Given the description of an element on the screen output the (x, y) to click on. 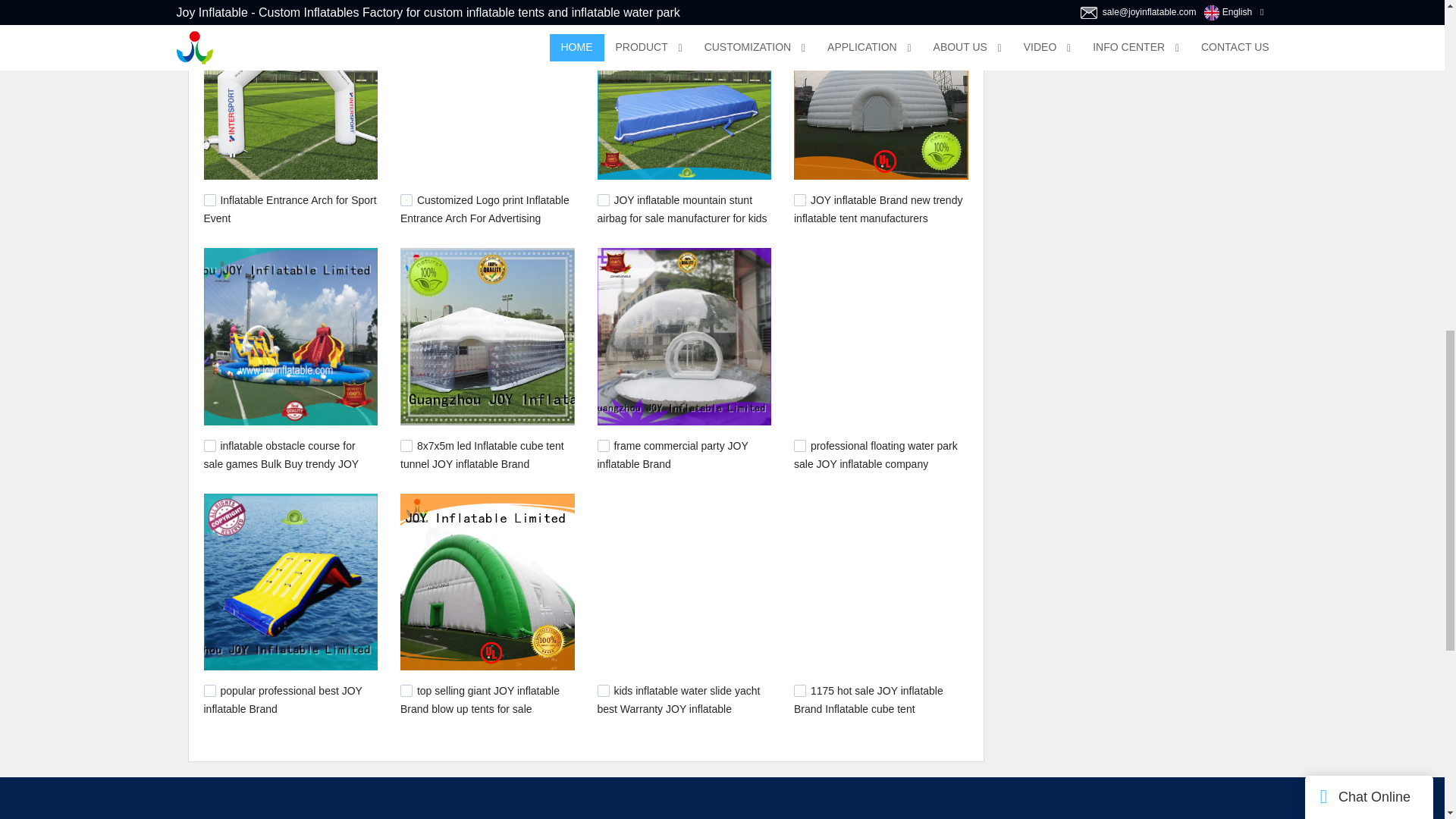
1502 (406, 445)
1516 (209, 200)
popular  professional best JOY inflatable Brand (282, 699)
professional floating water park sale JOY inflatable company (875, 454)
1200 (799, 445)
